Given the description of an element on the screen output the (x, y) to click on. 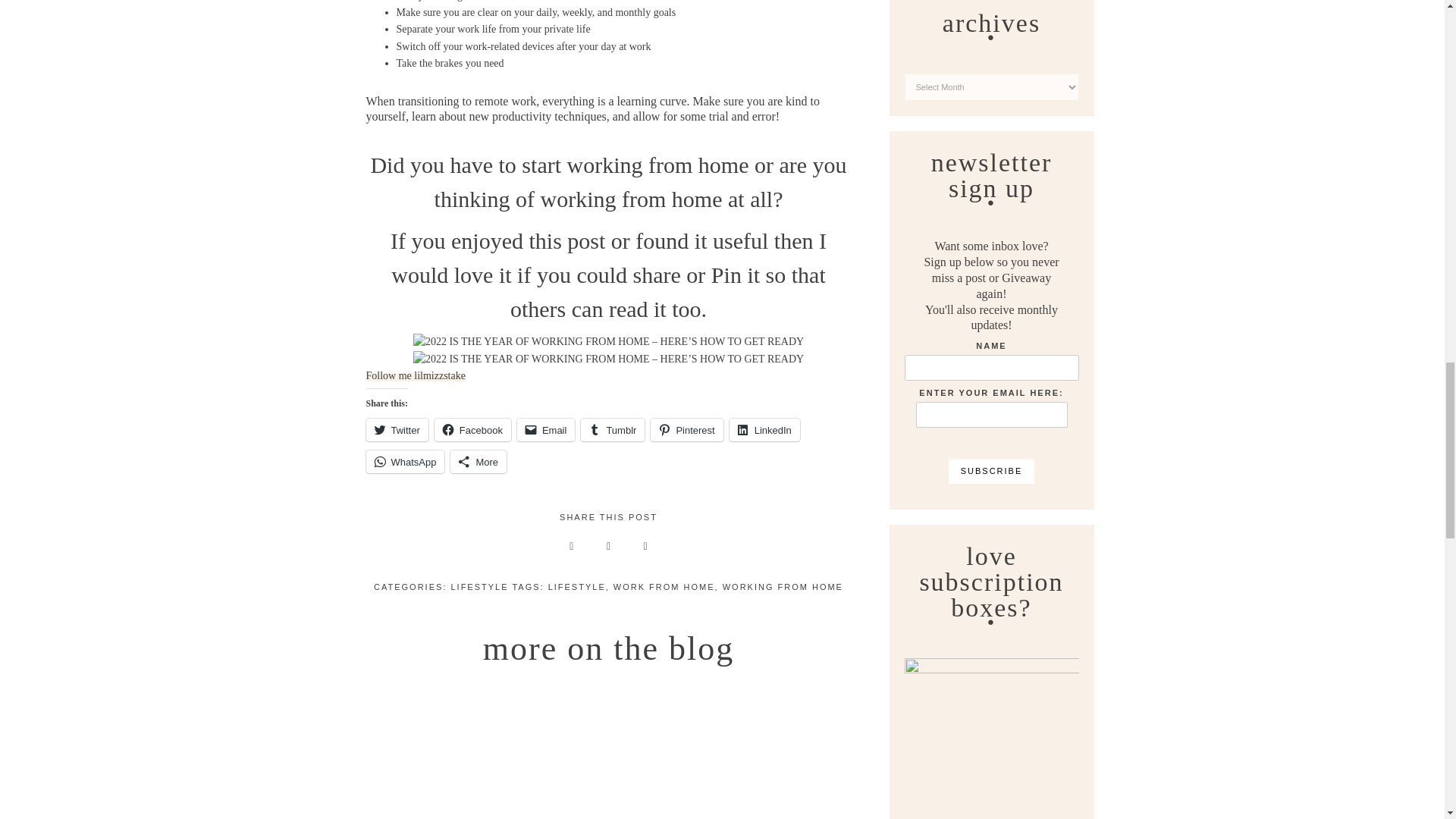
Subscribe (992, 471)
Click to share on LinkedIn (764, 429)
Click to email a link to a friend (545, 429)
Share on Facebook (645, 546)
Click to share on WhatsApp (404, 461)
Share on Twitter (608, 546)
Click to share on Tumblr (612, 429)
Click to share on Twitter (396, 429)
Share on Pinterest (571, 546)
Click to share on Facebook (472, 429)
Click to share on Pinterest (686, 429)
